Given the description of an element on the screen output the (x, y) to click on. 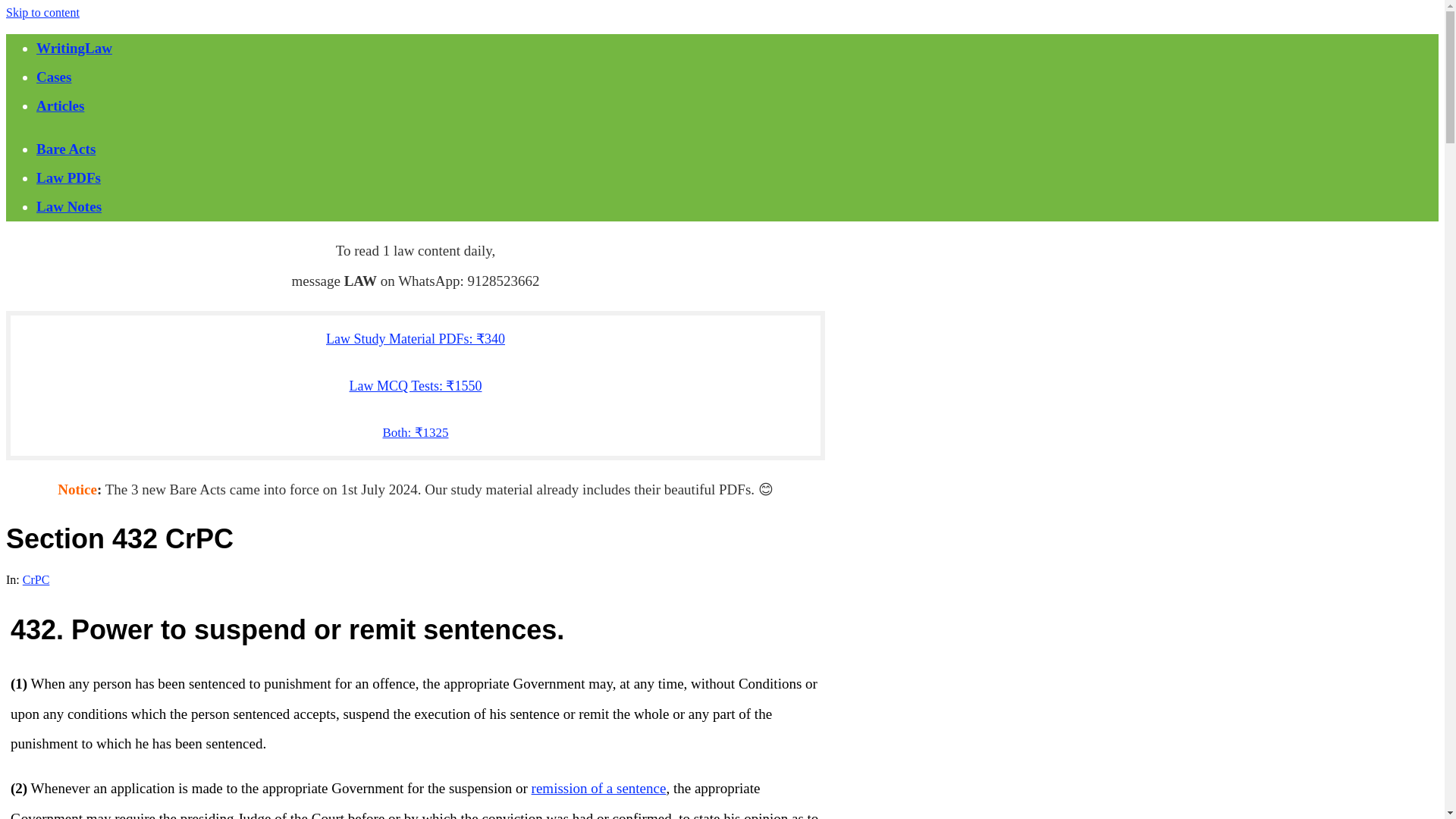
CrPC (36, 579)
Law Notes (68, 206)
WritingLaw (74, 48)
Skip to content (42, 11)
Cases (53, 76)
Articles (60, 105)
Law PDFs (68, 177)
remission of a sentence (598, 788)
Bare Acts (66, 148)
